Given the description of an element on the screen output the (x, y) to click on. 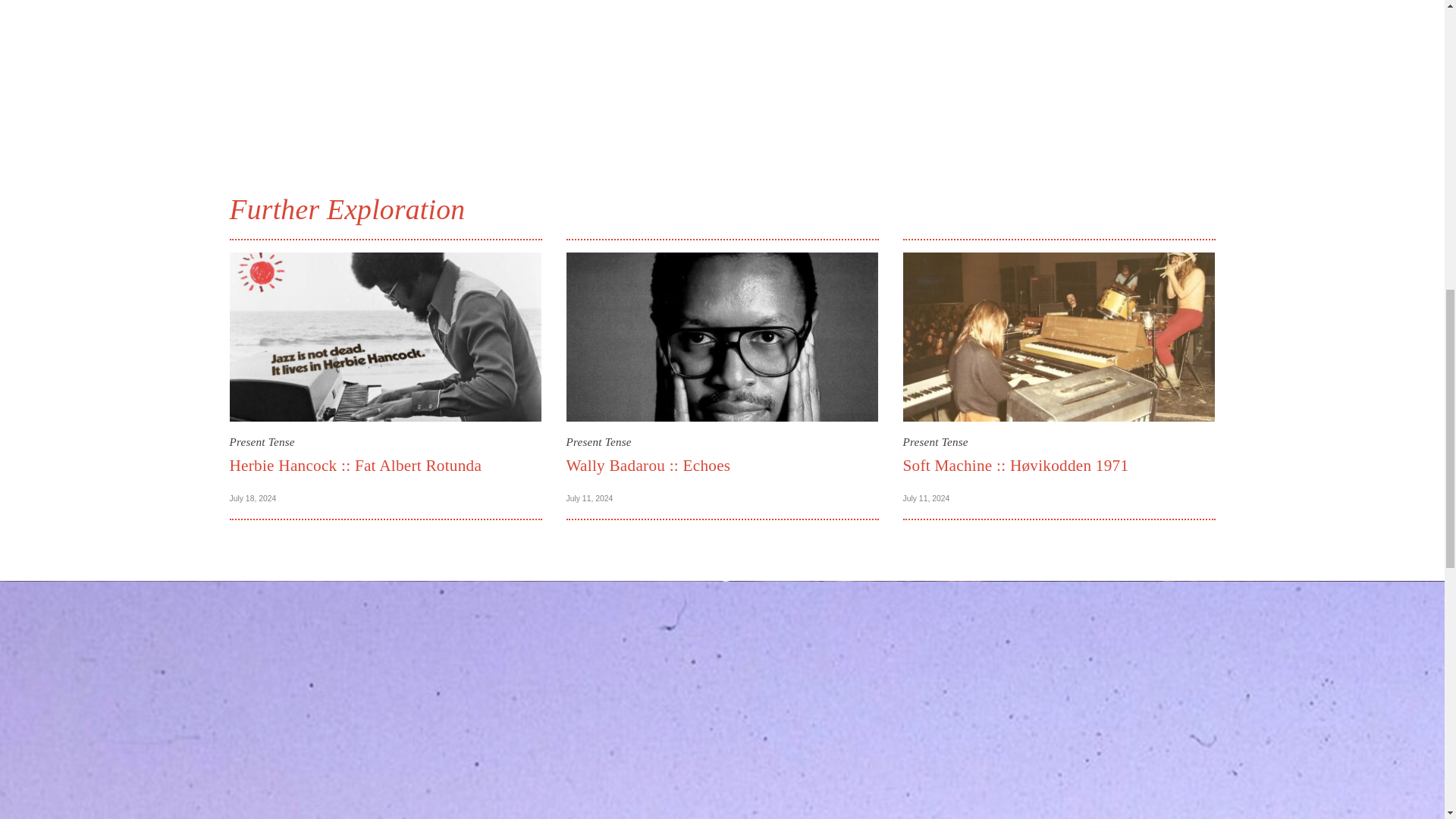
Wally Badarou :: Echoes (648, 465)
Herbie Hancock :: Fat Albert Rotunda (354, 465)
3rd party ad content (721, 73)
